Given the description of an element on the screen output the (x, y) to click on. 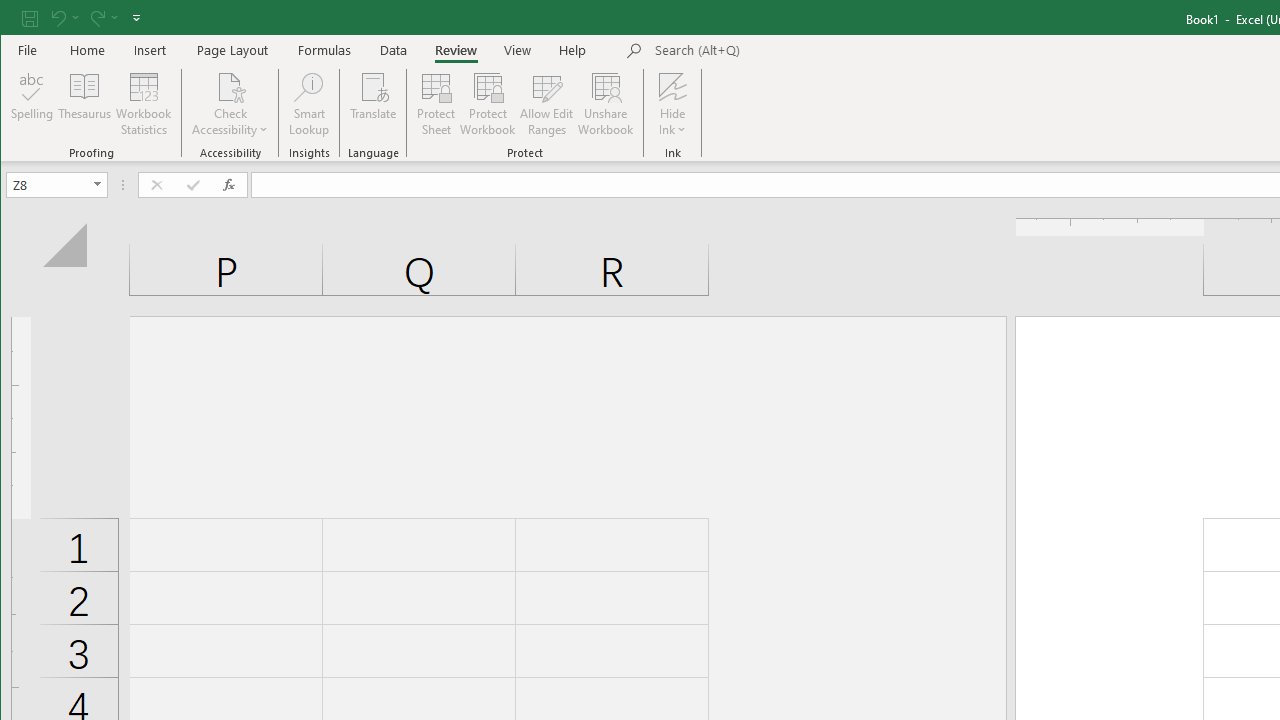
Protect Workbook... (488, 104)
Spelling... (32, 104)
Protect Sheet... (436, 104)
Thesaurus... (84, 104)
